Given the description of an element on the screen output the (x, y) to click on. 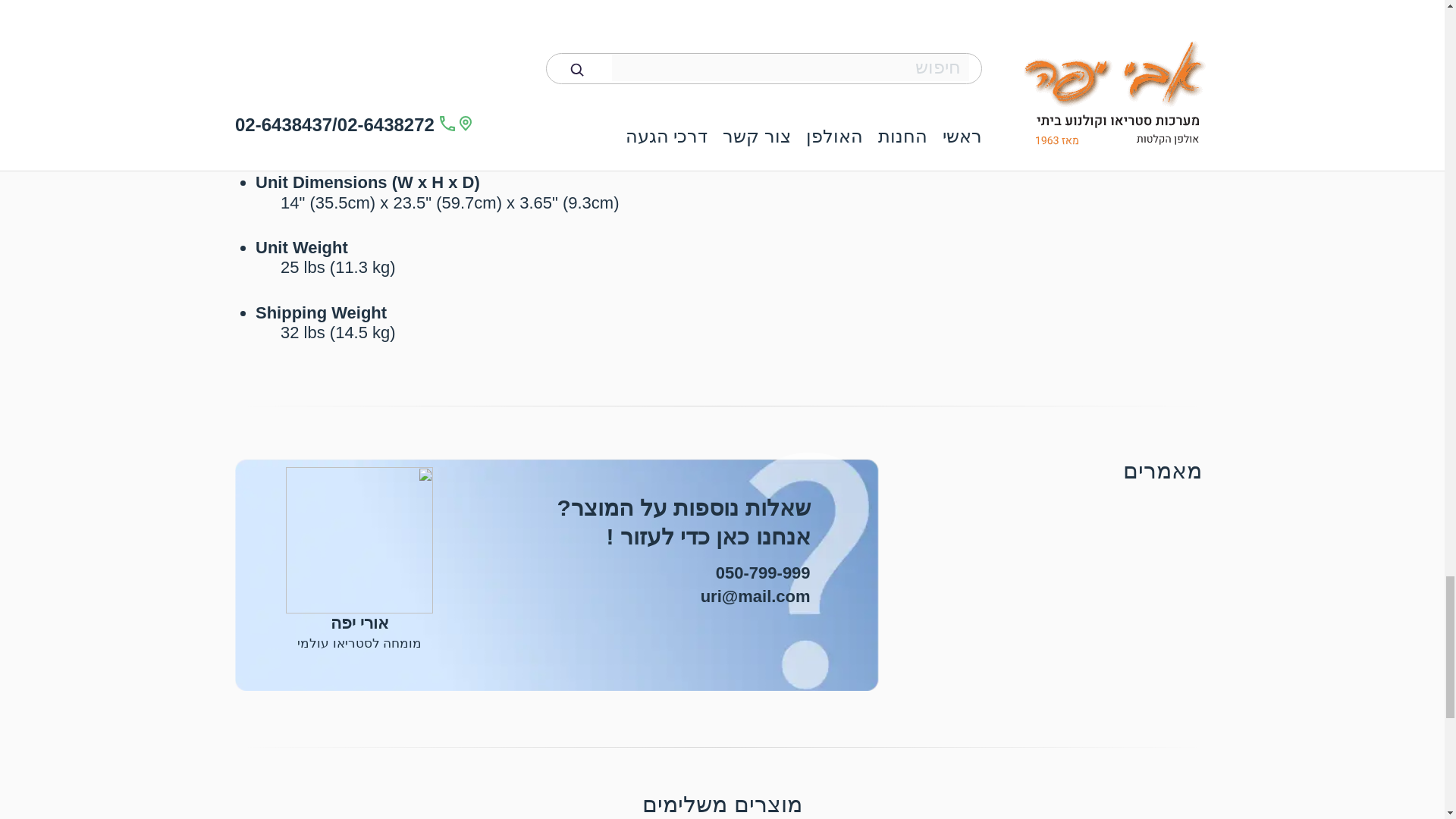
050-799-999 (763, 572)
